Given the description of an element on the screen output the (x, y) to click on. 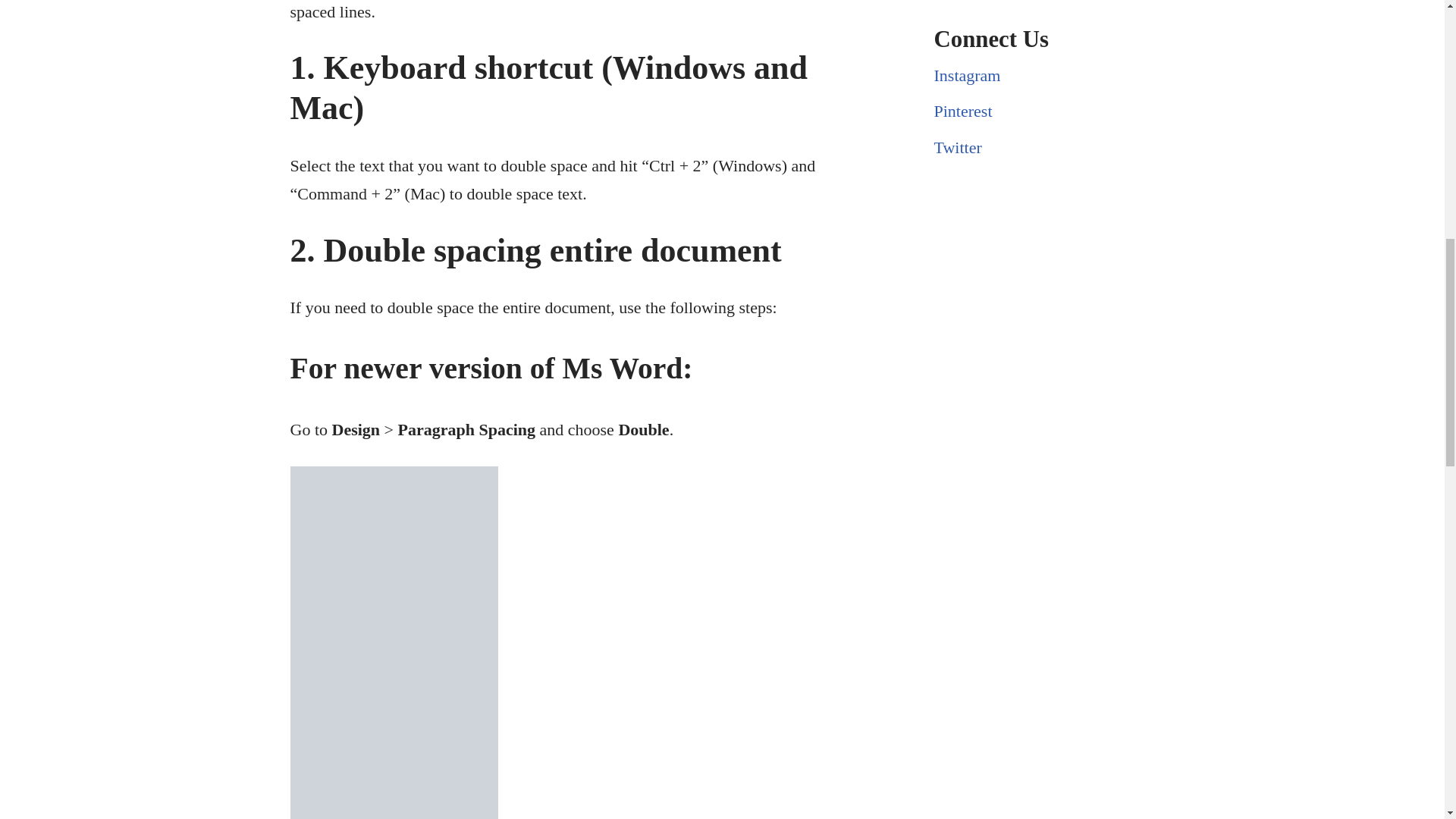
Pinterest (963, 110)
Twitter (957, 147)
Instagram (967, 75)
